Given the description of an element on the screen output the (x, y) to click on. 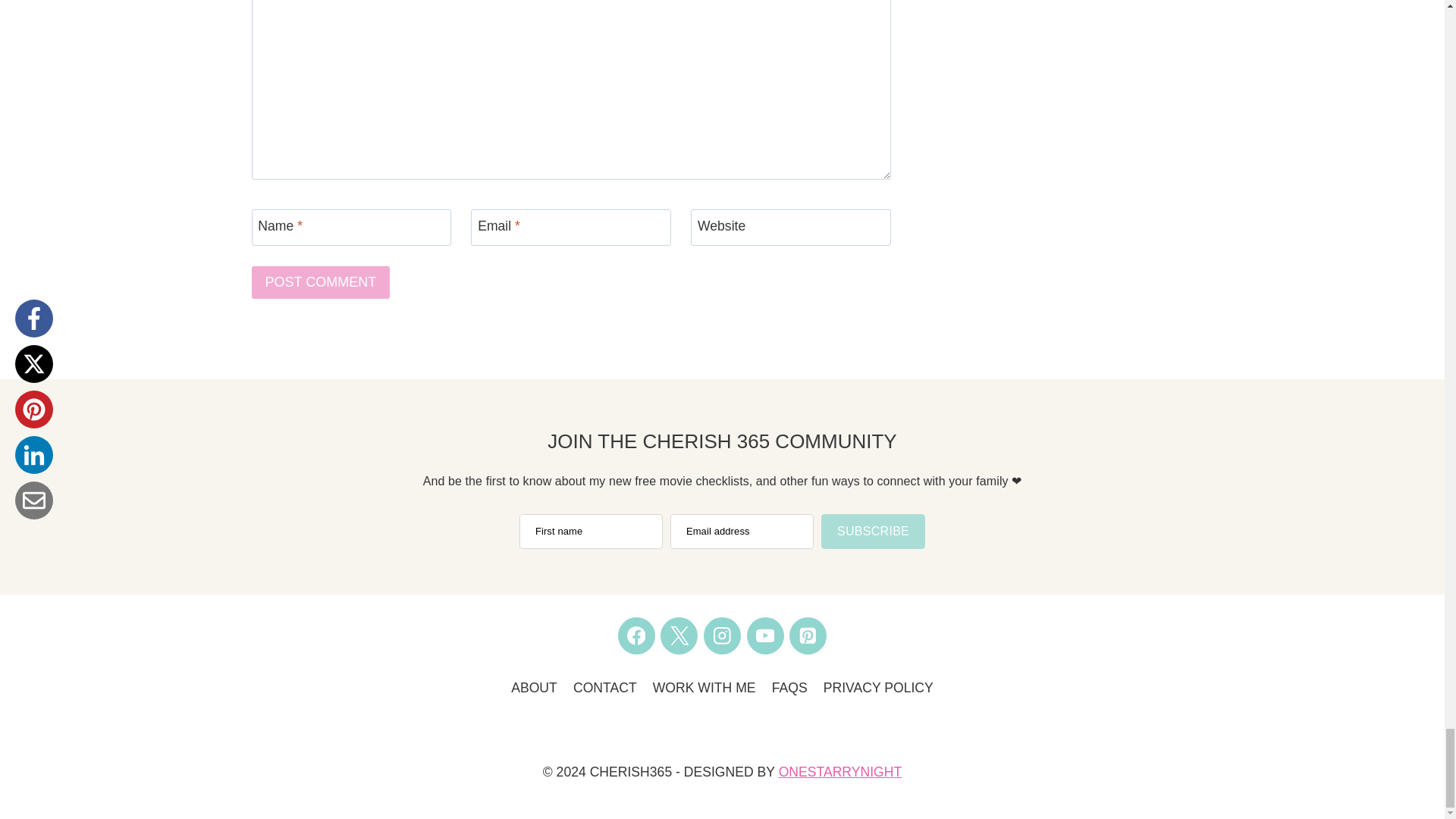
Post Comment (320, 282)
